Given the description of an element on the screen output the (x, y) to click on. 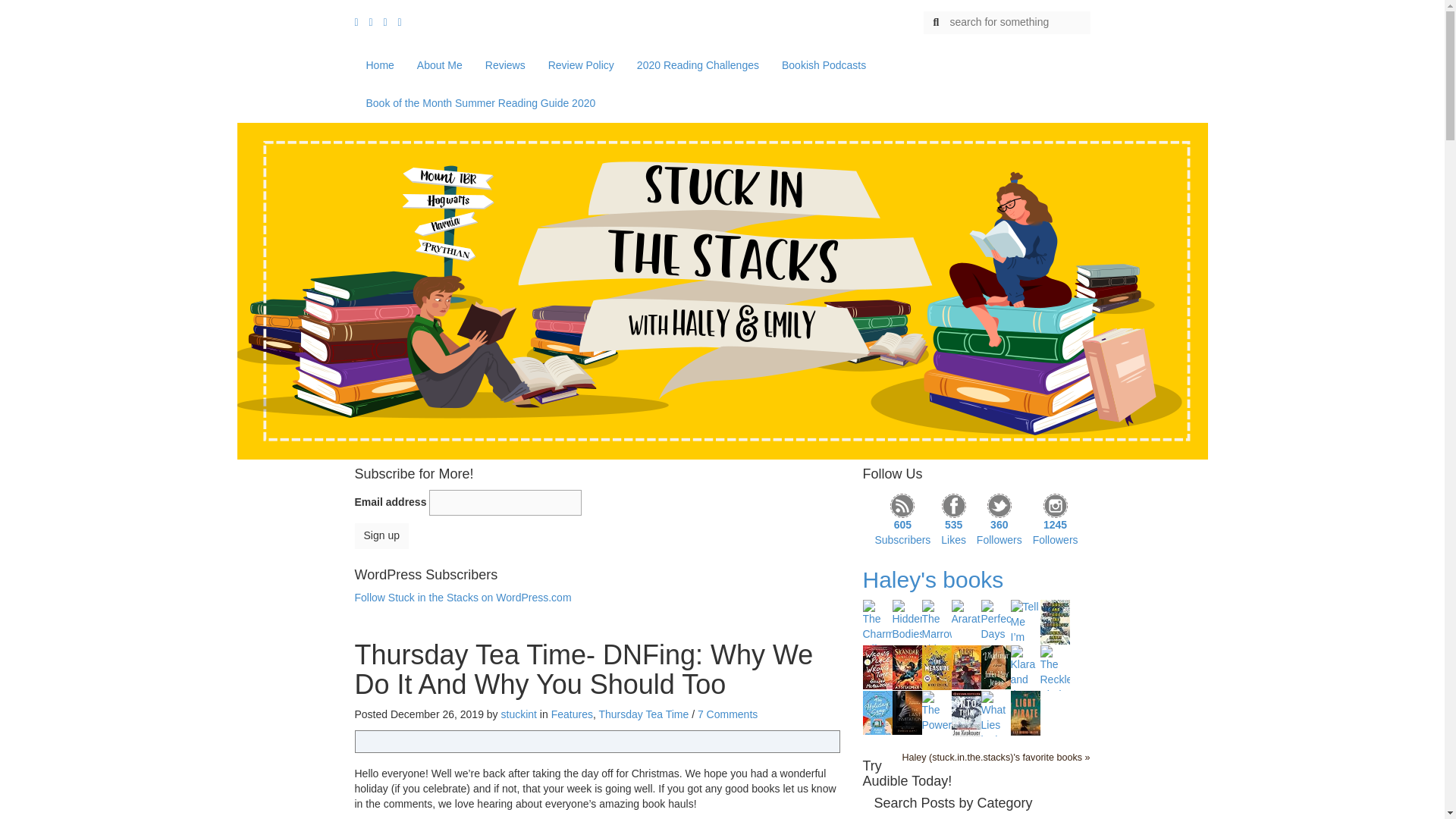
The Measure (936, 666)
Tomorrow, and Tomorrow, and Tomorrow (1055, 621)
2020 Reading Challenges (698, 64)
Thirst (964, 666)
View all posts in Thursday Tea Time (643, 714)
Bookish Podcasts (823, 64)
Features (571, 714)
Wrong Place Wrong Time (877, 666)
The Holiday Swap (877, 711)
7 Comments (727, 714)
